Given the description of an element on the screen output the (x, y) to click on. 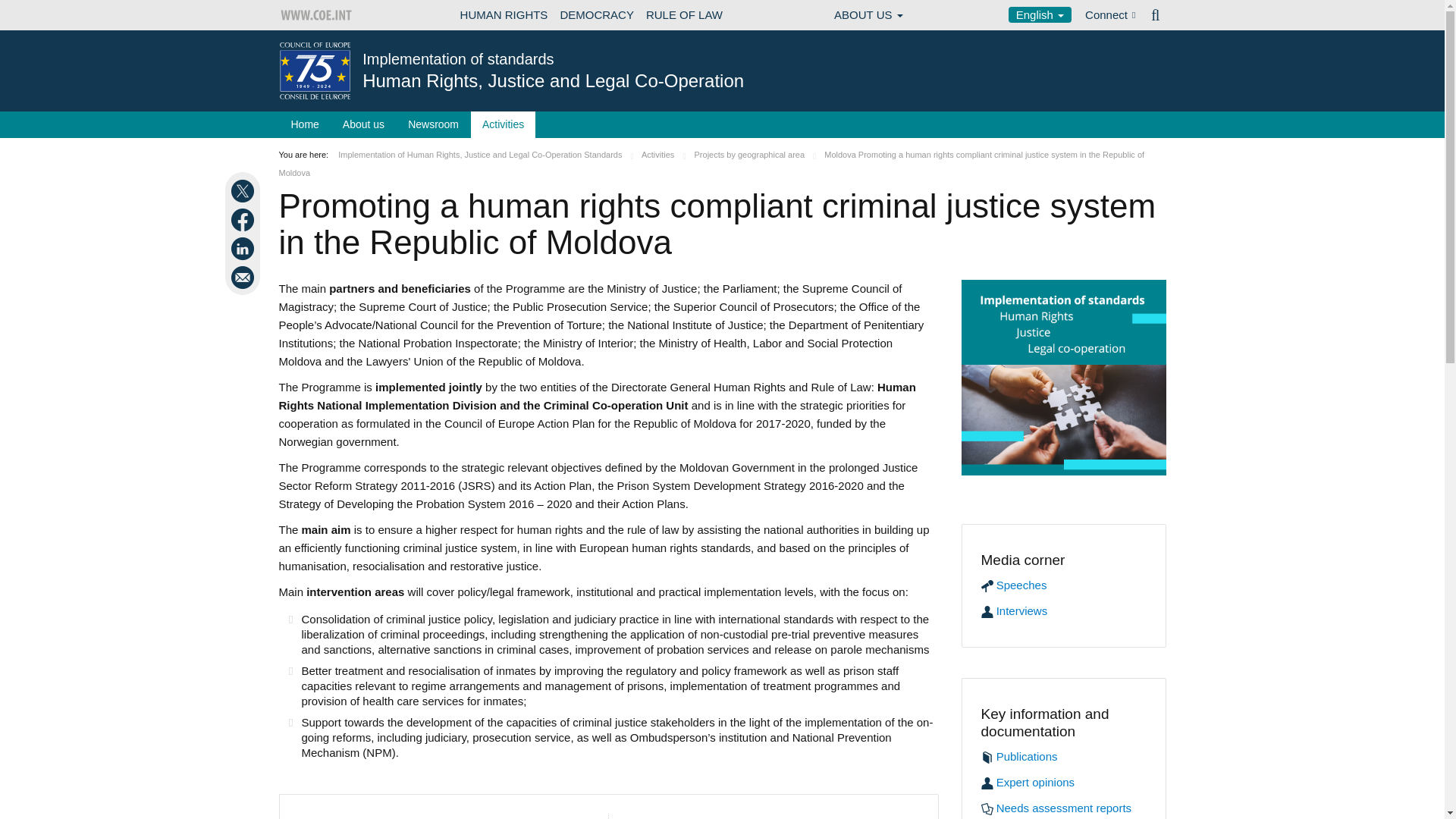
English (1040, 14)
ABOUT US (868, 15)
Connect (1109, 15)
HUMAN RIGHTS (504, 15)
Send this page (244, 277)
RULE OF LAW (684, 15)
WWW.COE.INT (317, 15)
Share on Facebook (244, 219)
DEMOCRACY (596, 15)
Share on Linkedin (244, 248)
